Given the description of an element on the screen output the (x, y) to click on. 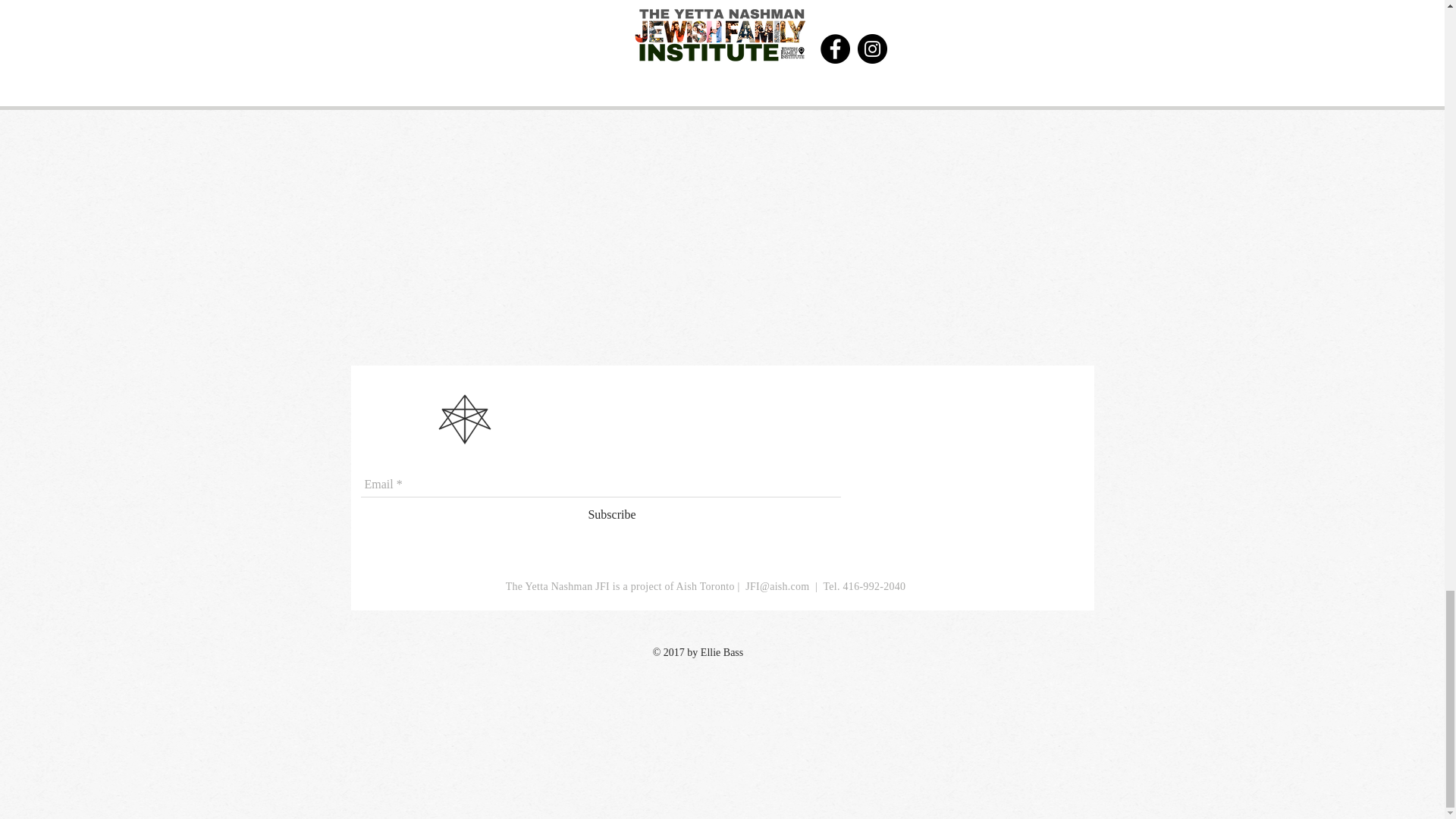
Subscribe (611, 514)
